Given the description of an element on the screen output the (x, y) to click on. 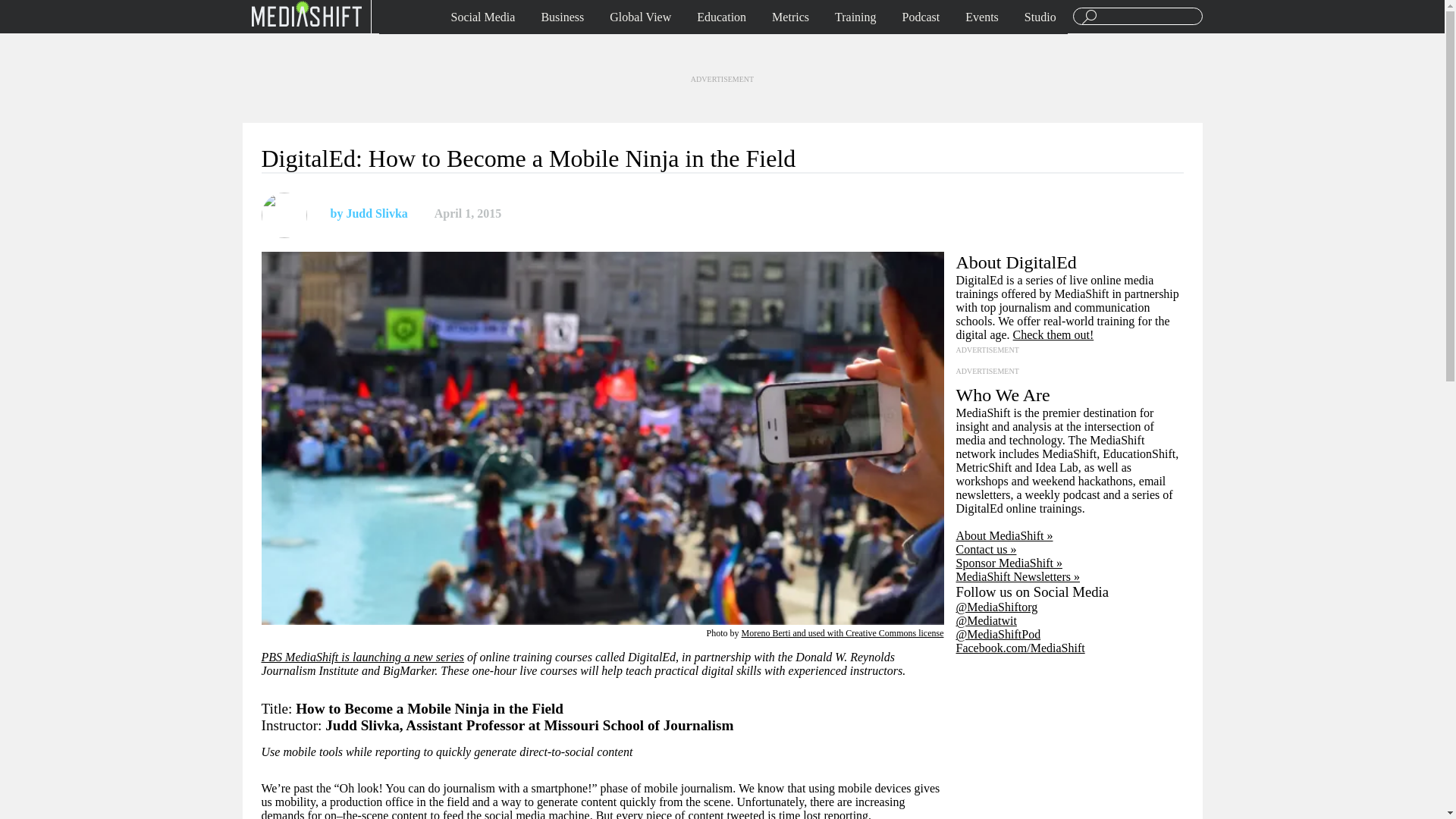
Business (562, 17)
Global View (640, 17)
Share by Email (582, 213)
Mediashift (305, 13)
Training (856, 17)
Podcast (921, 17)
Studio (1040, 17)
Metrics (790, 17)
Events (981, 17)
Social Media (483, 17)
Education (721, 17)
